Given the description of an element on the screen output the (x, y) to click on. 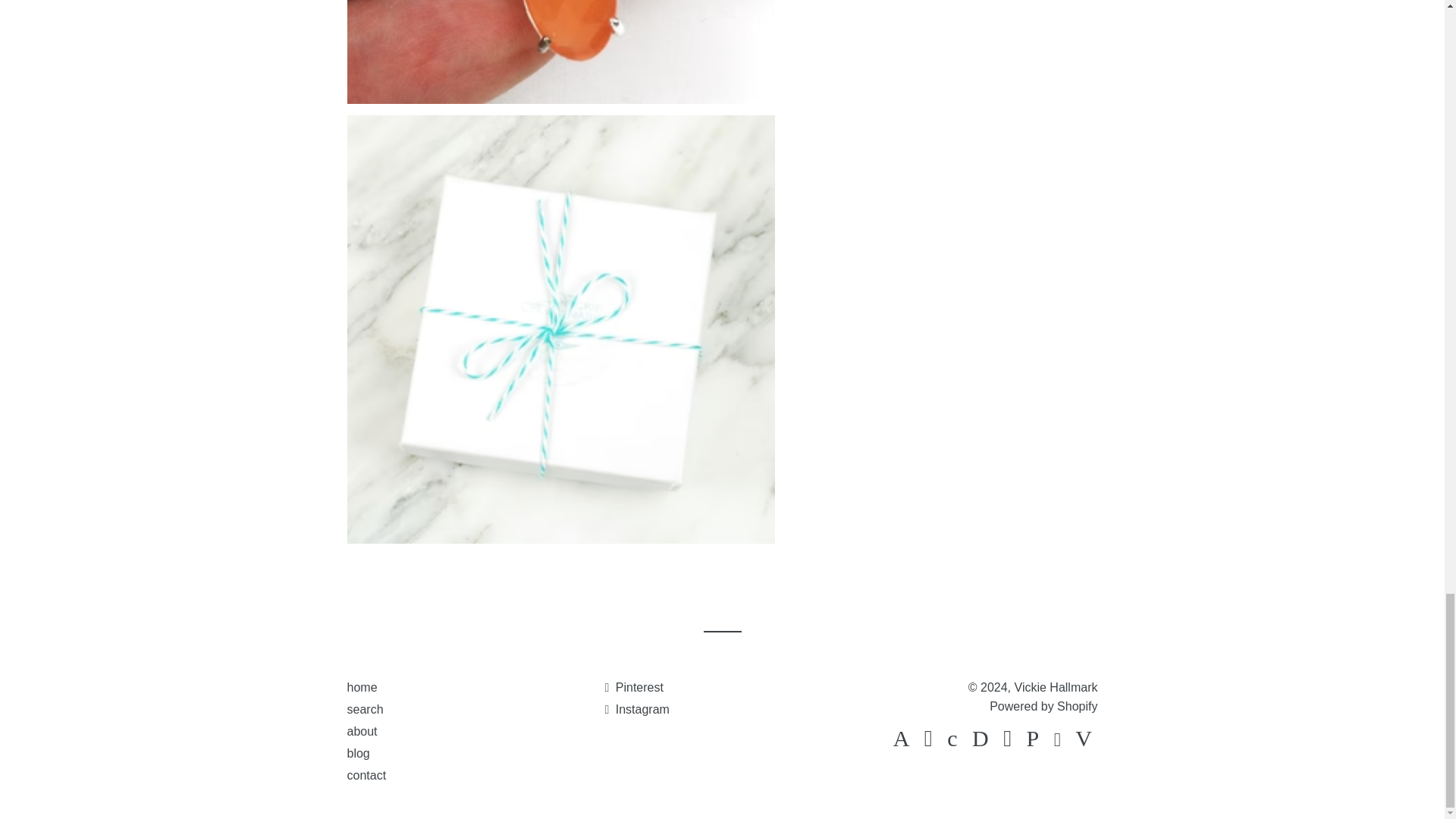
Vickie Hallmark on Pinterest (633, 686)
Vickie Hallmark on Instagram (636, 708)
